Given the description of an element on the screen output the (x, y) to click on. 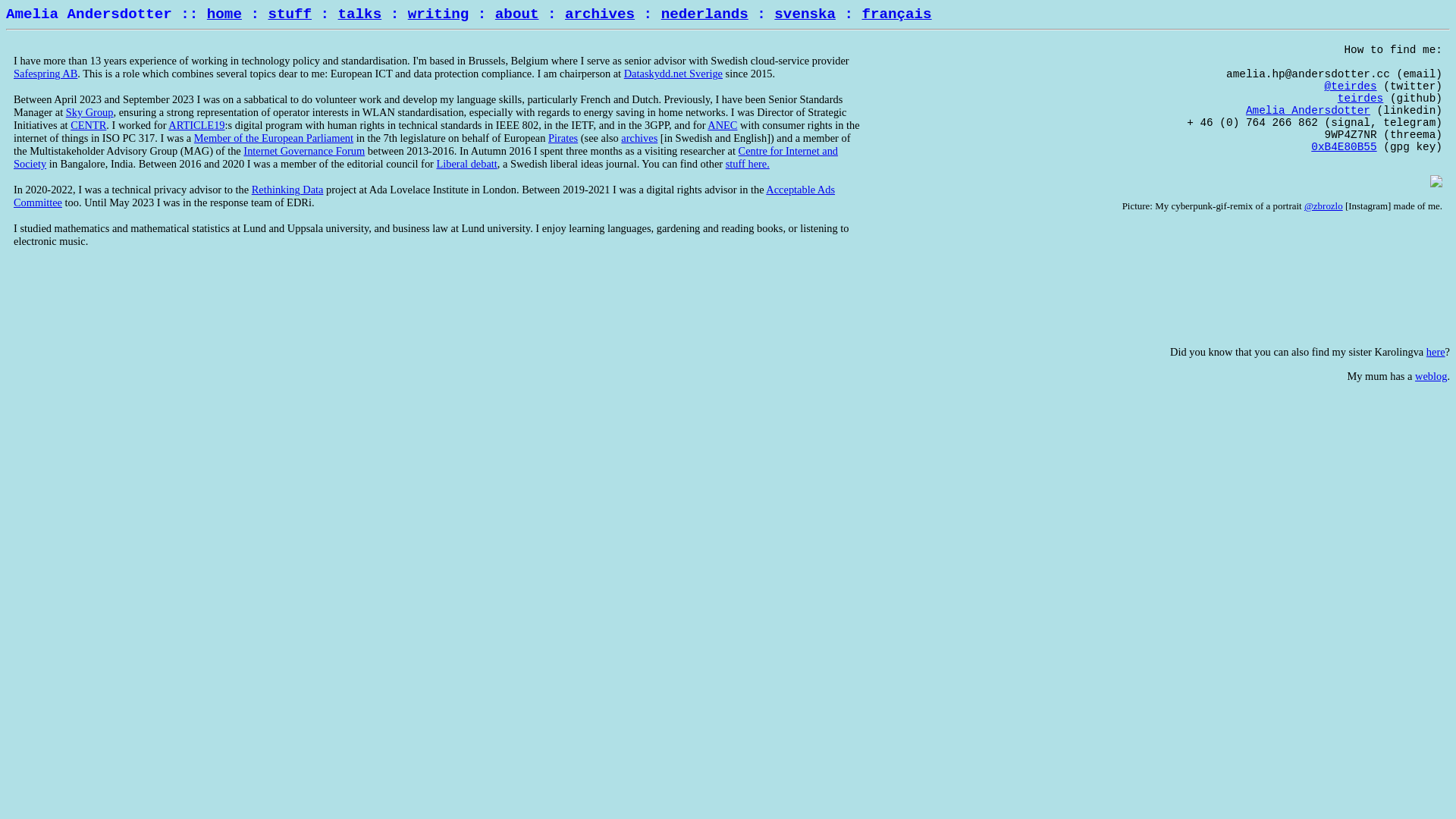
Internet Governance Forum Element type: text (303, 150)
here Element type: text (1435, 351)
home Element type: text (224, 14)
Centre for Internet and Society Element type: text (425, 156)
weblog Element type: text (1430, 376)
Pirates Element type: text (562, 137)
Safespring AB Element type: text (45, 73)
talks Element type: text (360, 14)
ANEC Element type: text (722, 125)
stuff Element type: text (289, 14)
teirdes Element type: text (1360, 98)
nederlands Element type: text (704, 14)
Rethinking Data Element type: text (287, 189)
writing Element type: text (438, 14)
Amelia Andersdotter Element type: text (1307, 110)
svenska Element type: text (804, 14)
@teirdes Element type: text (1350, 86)
Liberal debatt Element type: text (466, 163)
archives Element type: text (639, 137)
Member of the European Parliament Element type: text (273, 137)
CENTR Element type: text (88, 125)
Sky Group Element type: text (89, 112)
0xB4E80B55 Element type: text (1343, 147)
archives Element type: text (599, 14)
Dataskydd.net Sverige Element type: text (673, 73)
ARTICLE19 Element type: text (196, 125)
stuff here. Element type: text (747, 163)
Acceptable Ads Committee Element type: text (423, 195)
@zbrozlo Element type: text (1323, 205)
about Element type: text (517, 14)
